Given the description of an element on the screen output the (x, y) to click on. 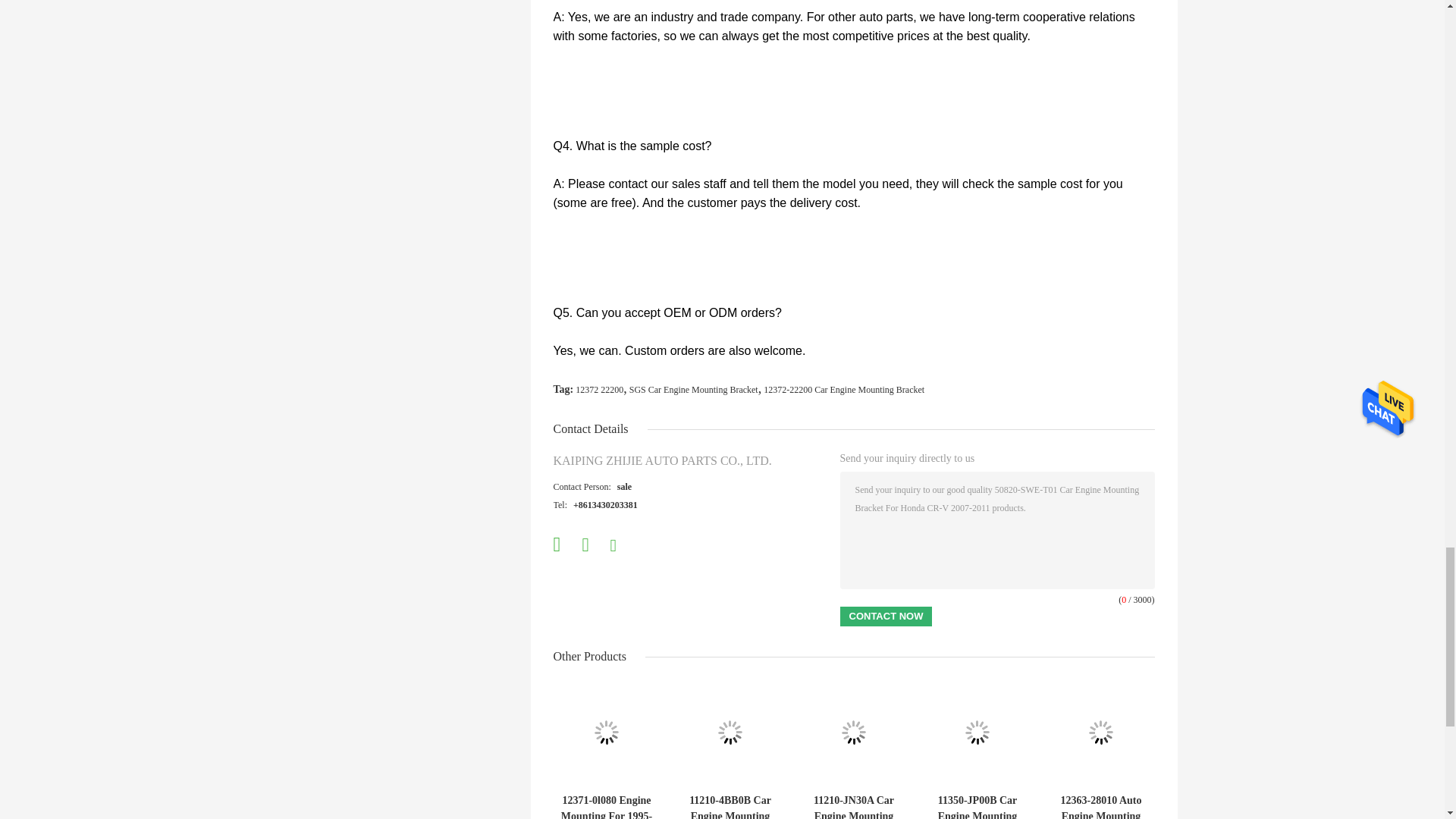
Contact Now (886, 616)
